Given the description of an element on the screen output the (x, y) to click on. 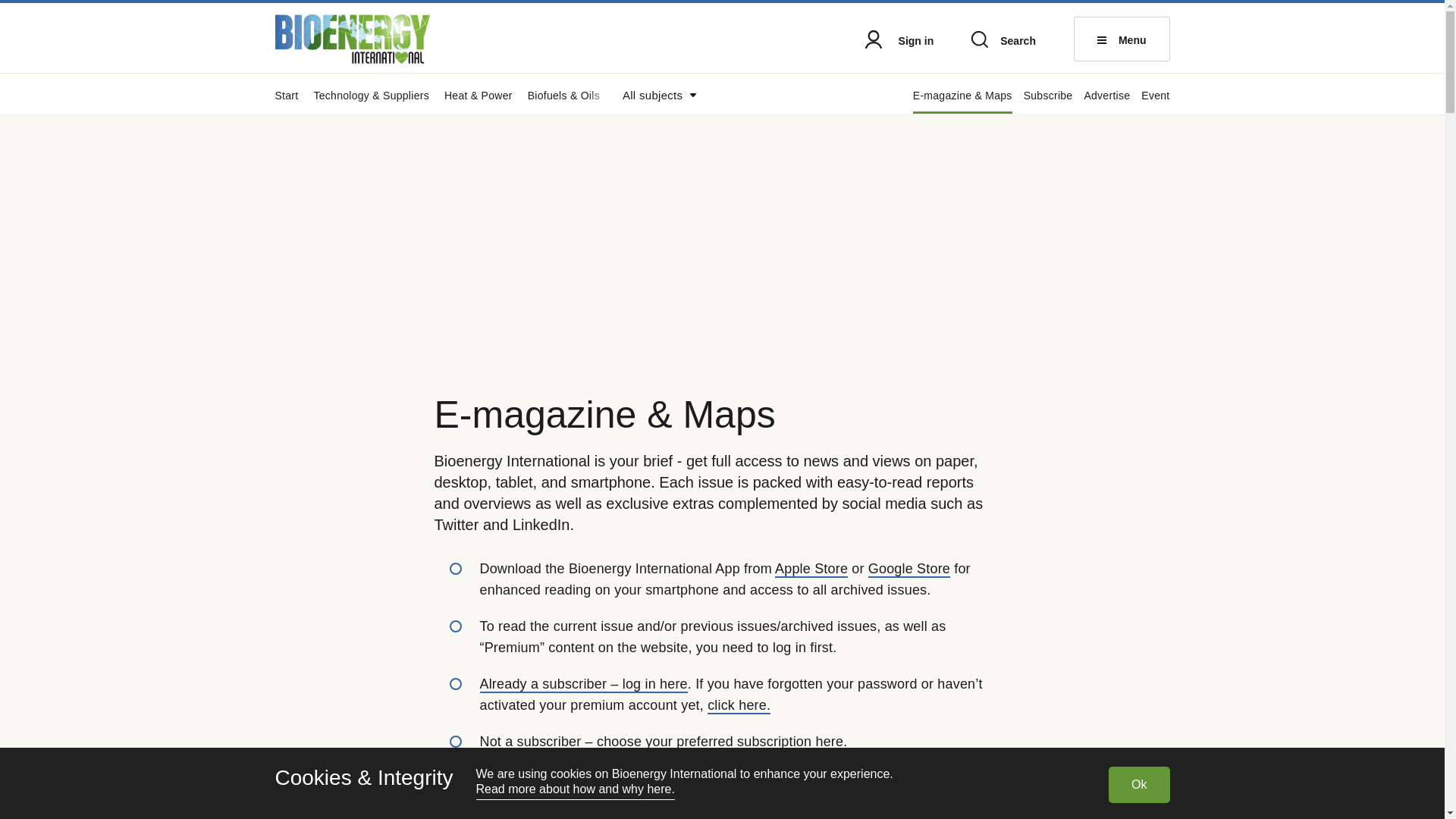
Event (1155, 101)
Sign in (898, 43)
Start (286, 101)
Advertise (1106, 101)
Subscribe (1048, 101)
